Given the description of an element on the screen output the (x, y) to click on. 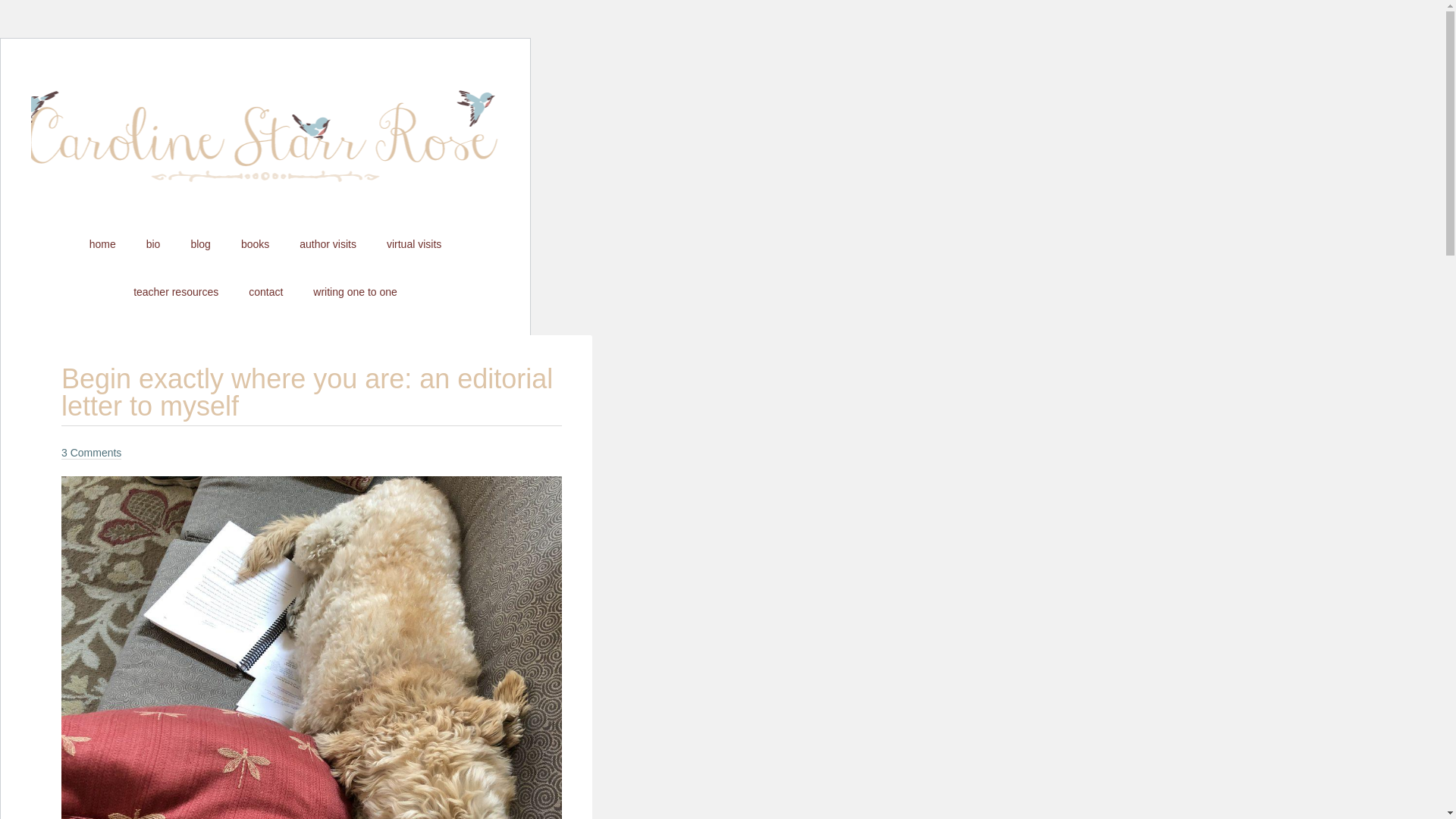
writing one to one (355, 291)
virtual visits (414, 244)
author visits (327, 244)
CAROLINE STARR ROSE (264, 148)
bio (153, 244)
3 Comments (90, 452)
home (102, 244)
blog (199, 244)
contact (265, 291)
teacher resources (174, 291)
